Given the description of an element on the screen output the (x, y) to click on. 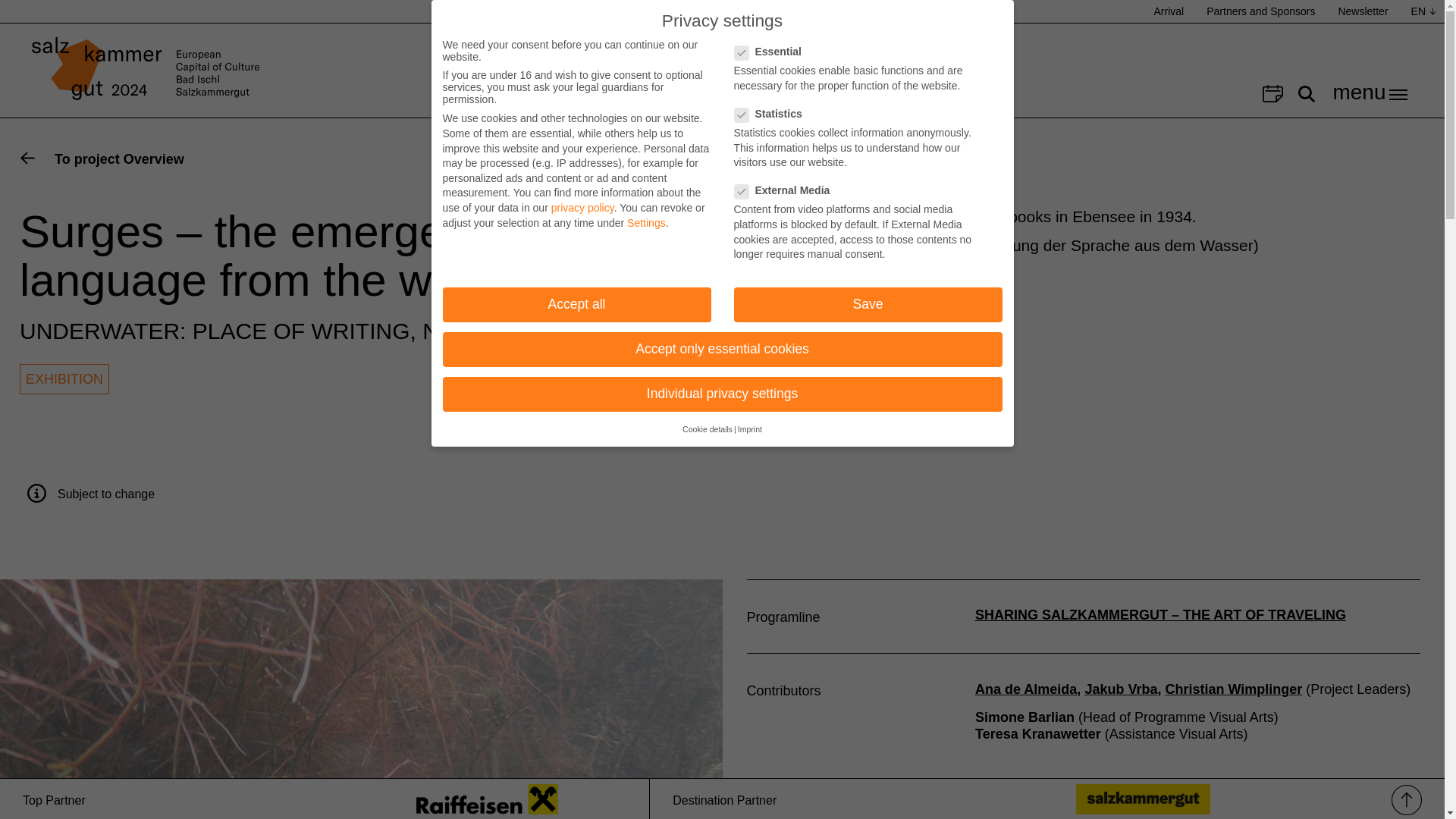
Newsletter (1362, 11)
Partners and Sponsors (1260, 11)
Arrival (1168, 11)
